Given the description of an element on the screen output the (x, y) to click on. 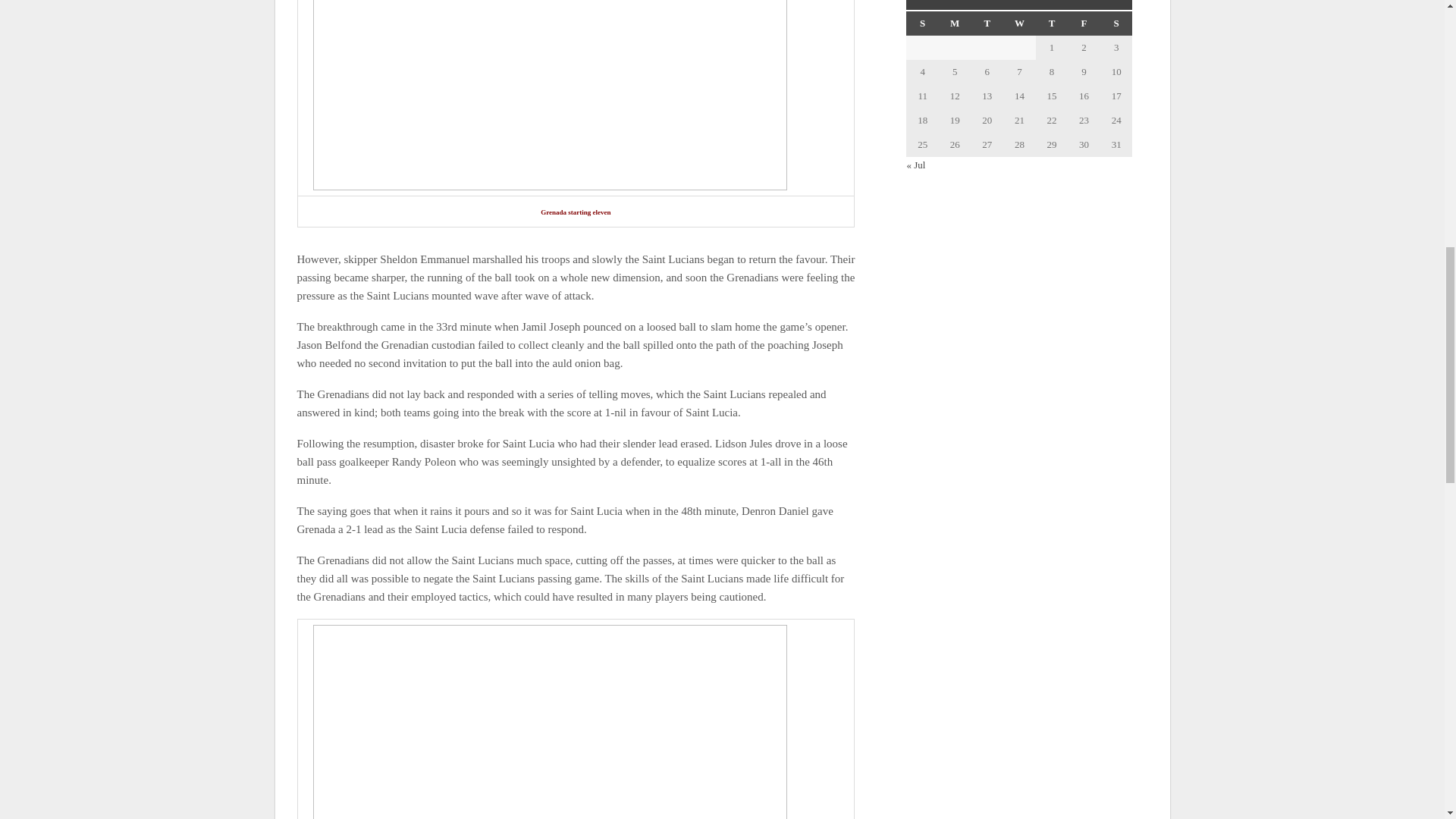
Sunday (922, 23)
Monday (955, 23)
Tuesday (987, 23)
Thursday (1051, 23)
Wednesday (1019, 23)
